Given the description of an element on the screen output the (x, y) to click on. 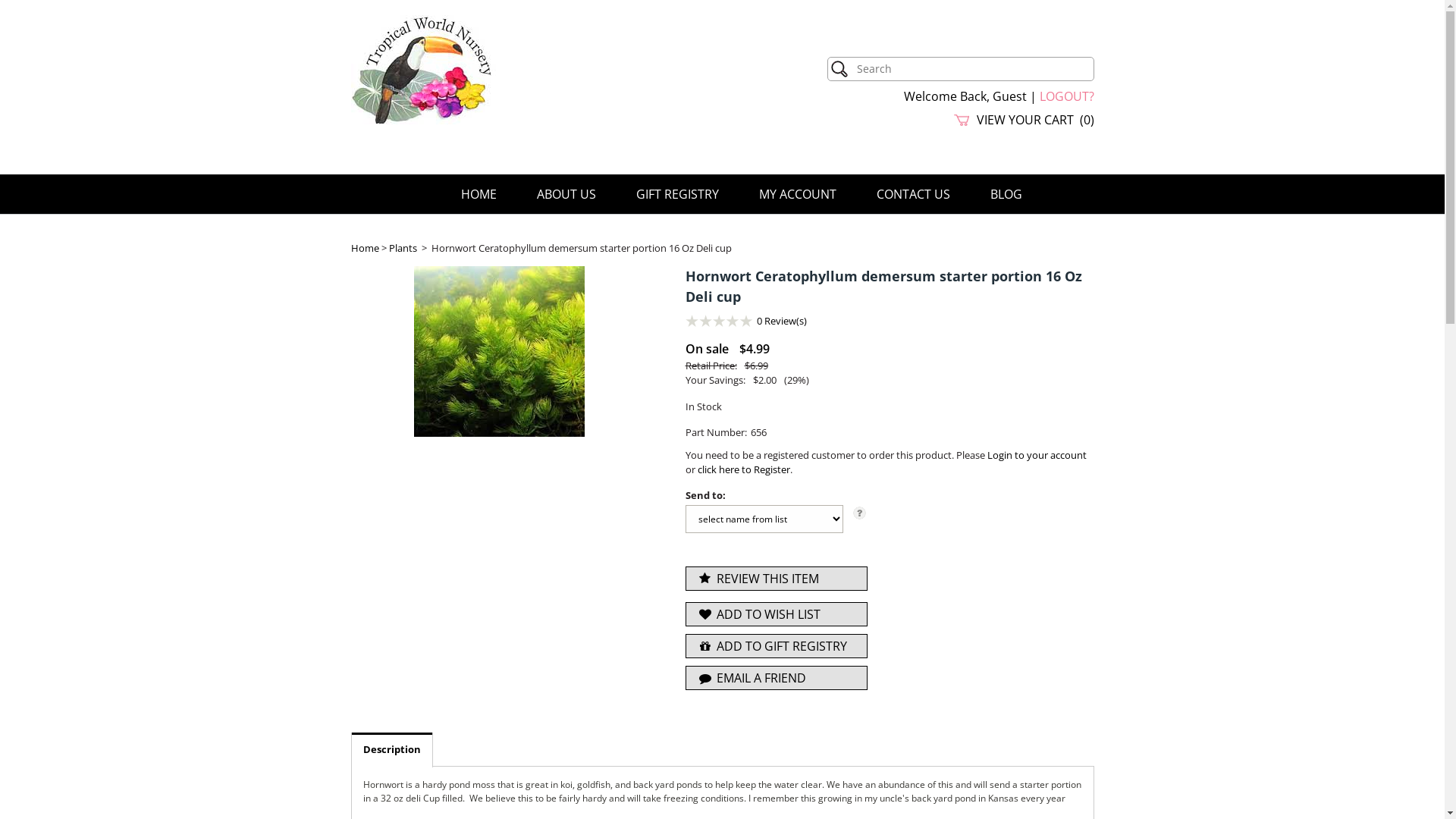
EMAIL A FRIEND Element type: text (776, 677)
ABOUT US Element type: text (566, 193)
MY ACCOUNT Element type: text (796, 193)
HOME Element type: text (478, 193)
Description Element type: text (391, 748)
ADD TO WISH LIST Element type: text (776, 614)
home Element type: text (422, 120)
BLOG Element type: text (1006, 193)
GIFT REGISTRY Element type: text (676, 193)
Guest Element type: text (1008, 95)
Home Element type: text (364, 247)
LOGOUT? Element type: text (1065, 95)
REVIEW THIS ITEM Element type: text (776, 578)
click here to Register Element type: text (743, 469)
Login to your account Element type: text (1036, 454)
CONTACT US Element type: text (913, 193)
VIEW YOUR CART  (0) Element type: text (1023, 119)
ADD TO GIFT REGISTRY Element type: text (776, 645)
0 Review(s) Element type: text (781, 320)
Plants Element type: text (402, 247)
